Given the description of an element on the screen output the (x, y) to click on. 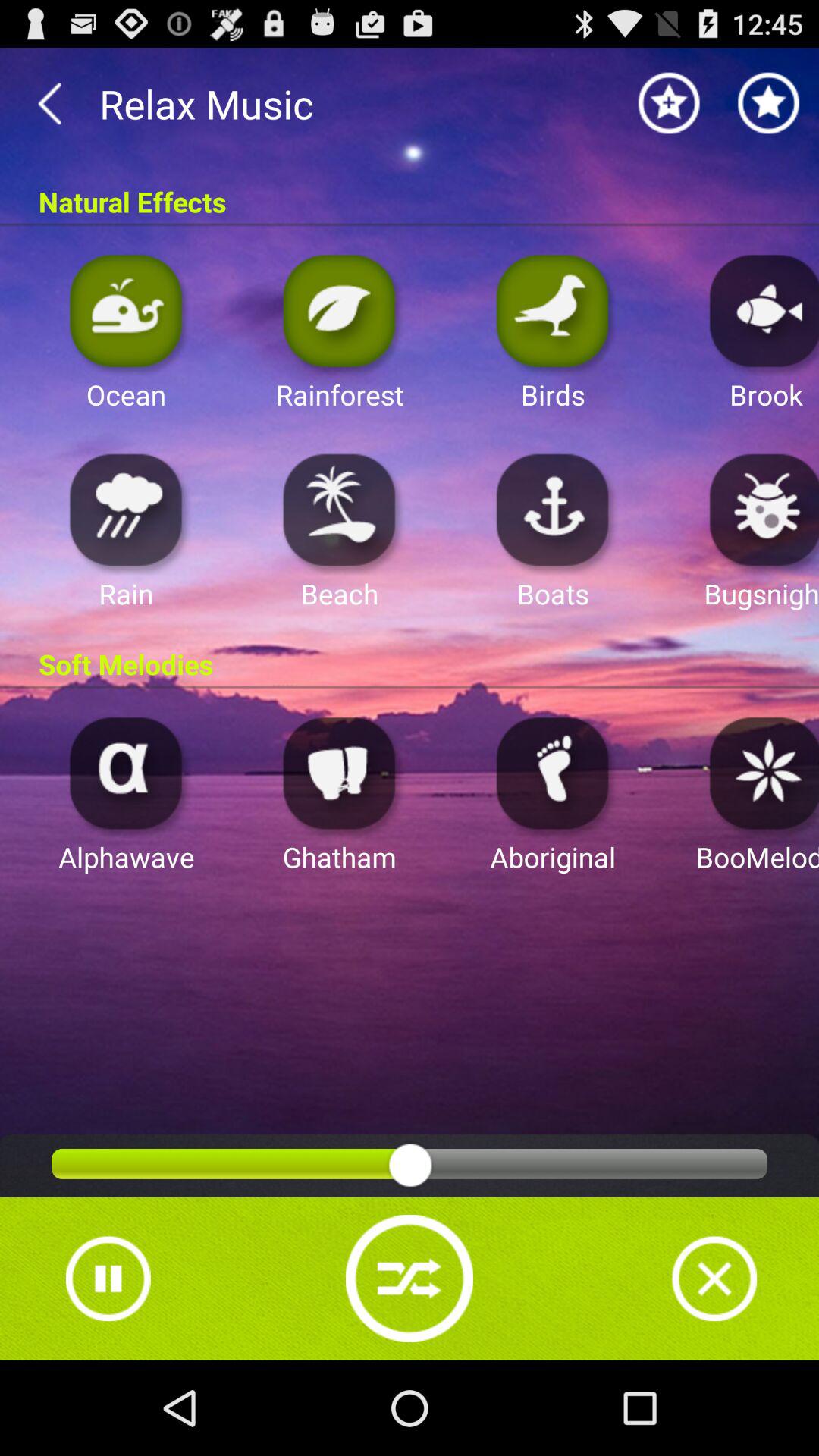
select the boomeload button (759, 772)
